Given the description of an element on the screen output the (x, y) to click on. 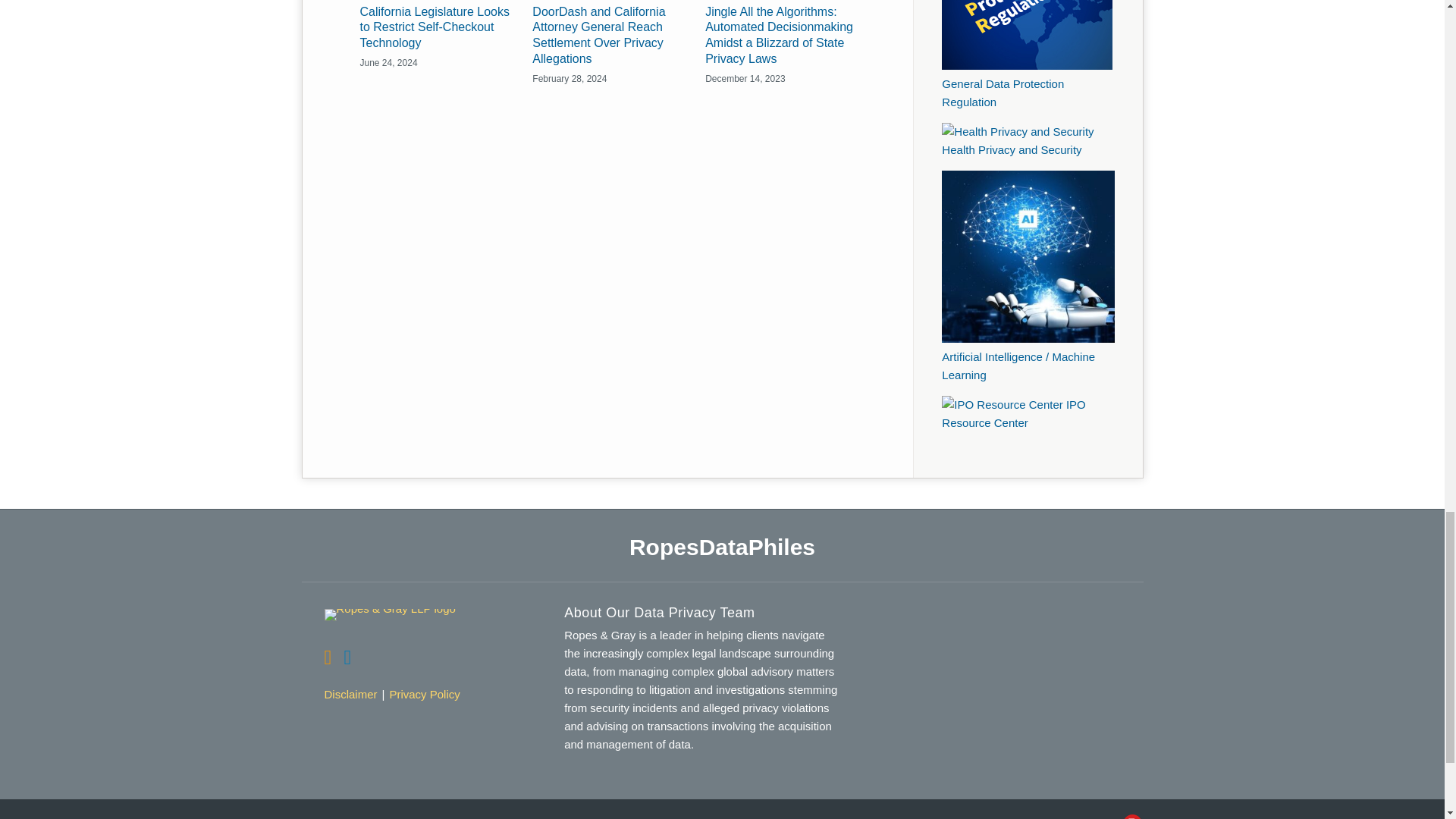
LexBlog Logo (1131, 816)
